Given the description of an element on the screen output the (x, y) to click on. 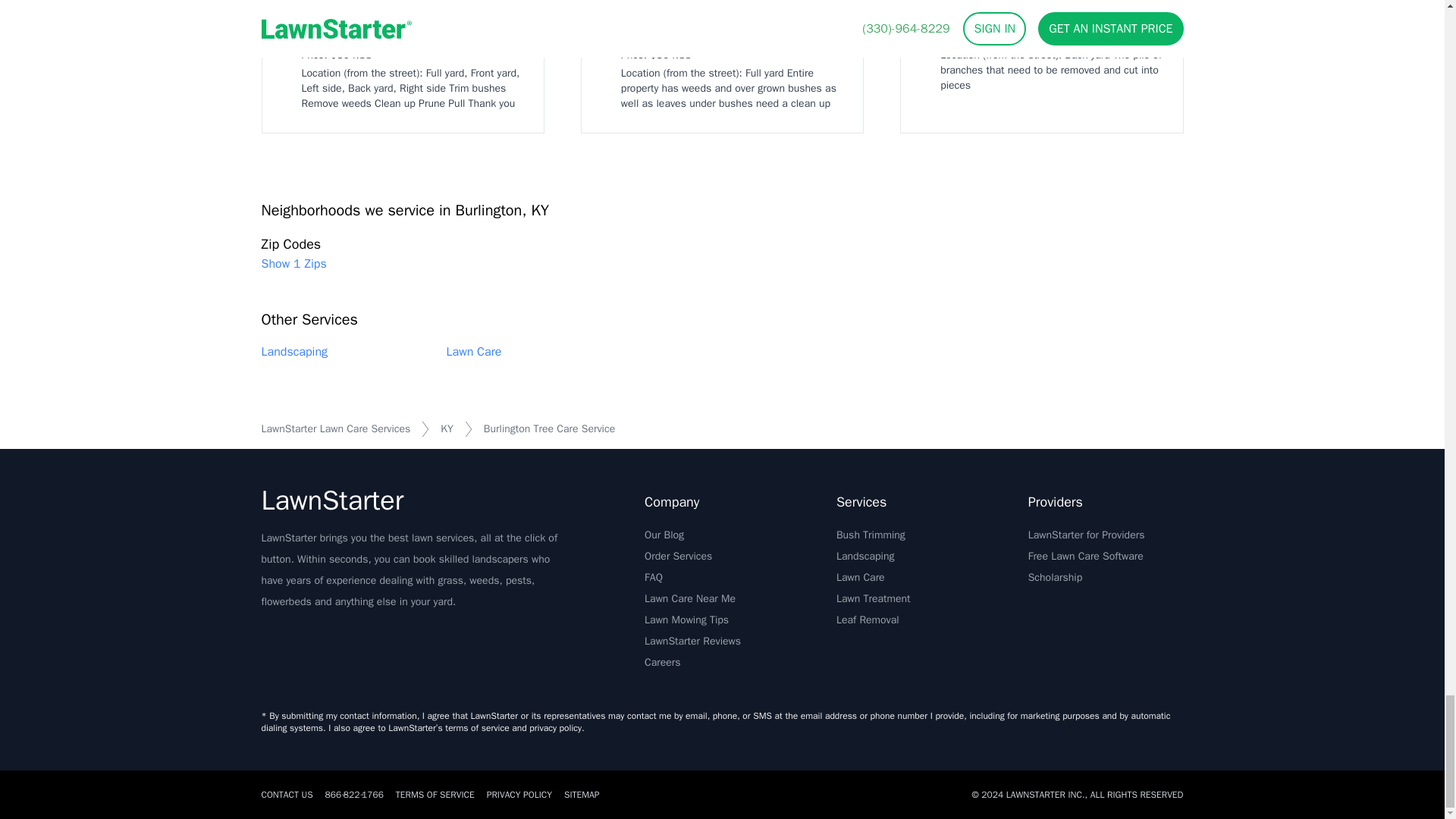
Show 1 Zips (293, 263)
Lawn Care (472, 351)
Landscaping (293, 351)
